Given the description of an element on the screen output the (x, y) to click on. 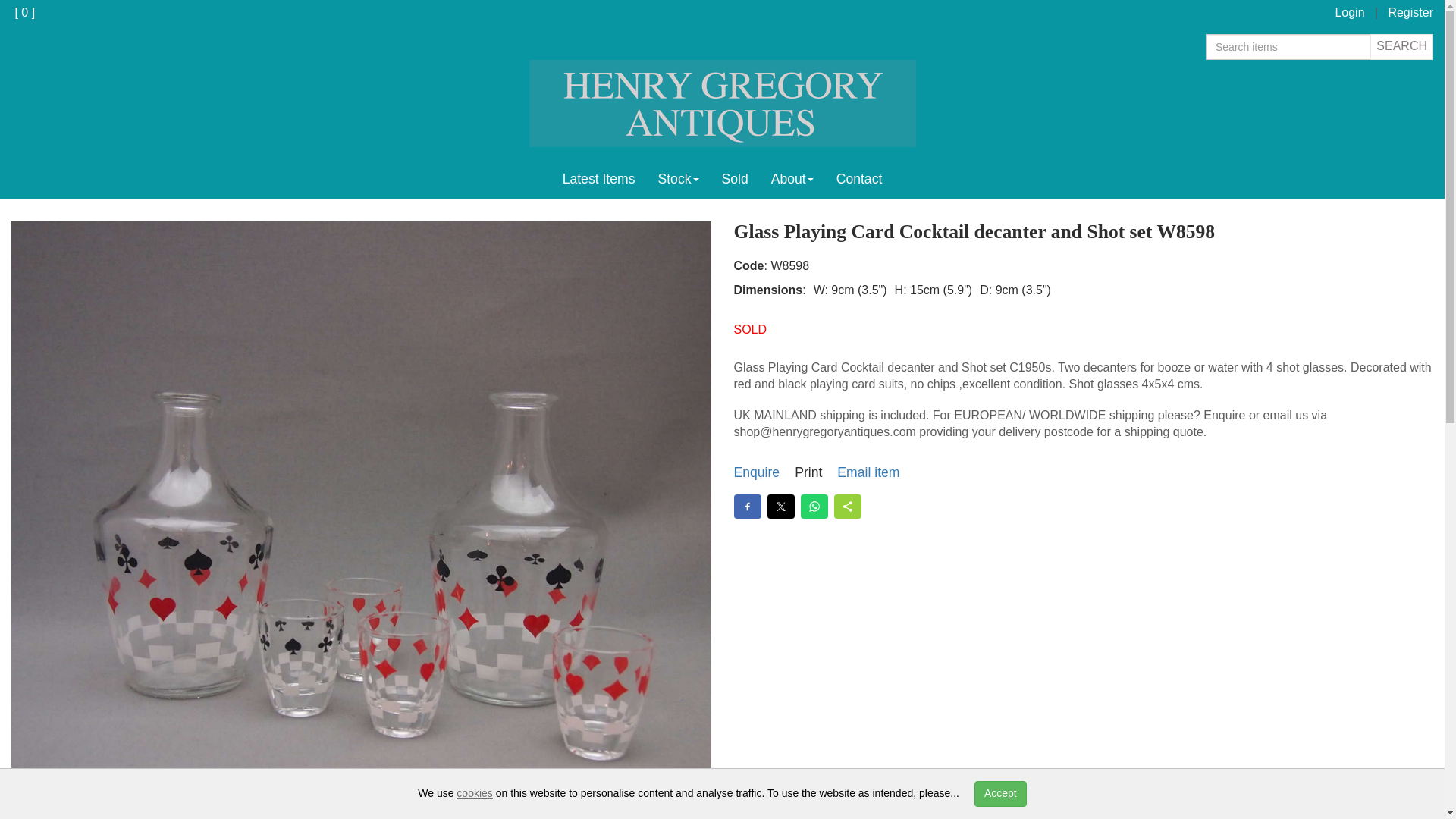
Email item (868, 472)
Henry Gregory Antiques (722, 103)
Enquire (756, 472)
About (792, 178)
Register (1409, 11)
Contact (859, 178)
Sold (734, 178)
Print (808, 472)
Stock (678, 178)
SEARCH (1401, 46)
Login (1349, 11)
Latest Items (598, 178)
